Given the description of an element on the screen output the (x, y) to click on. 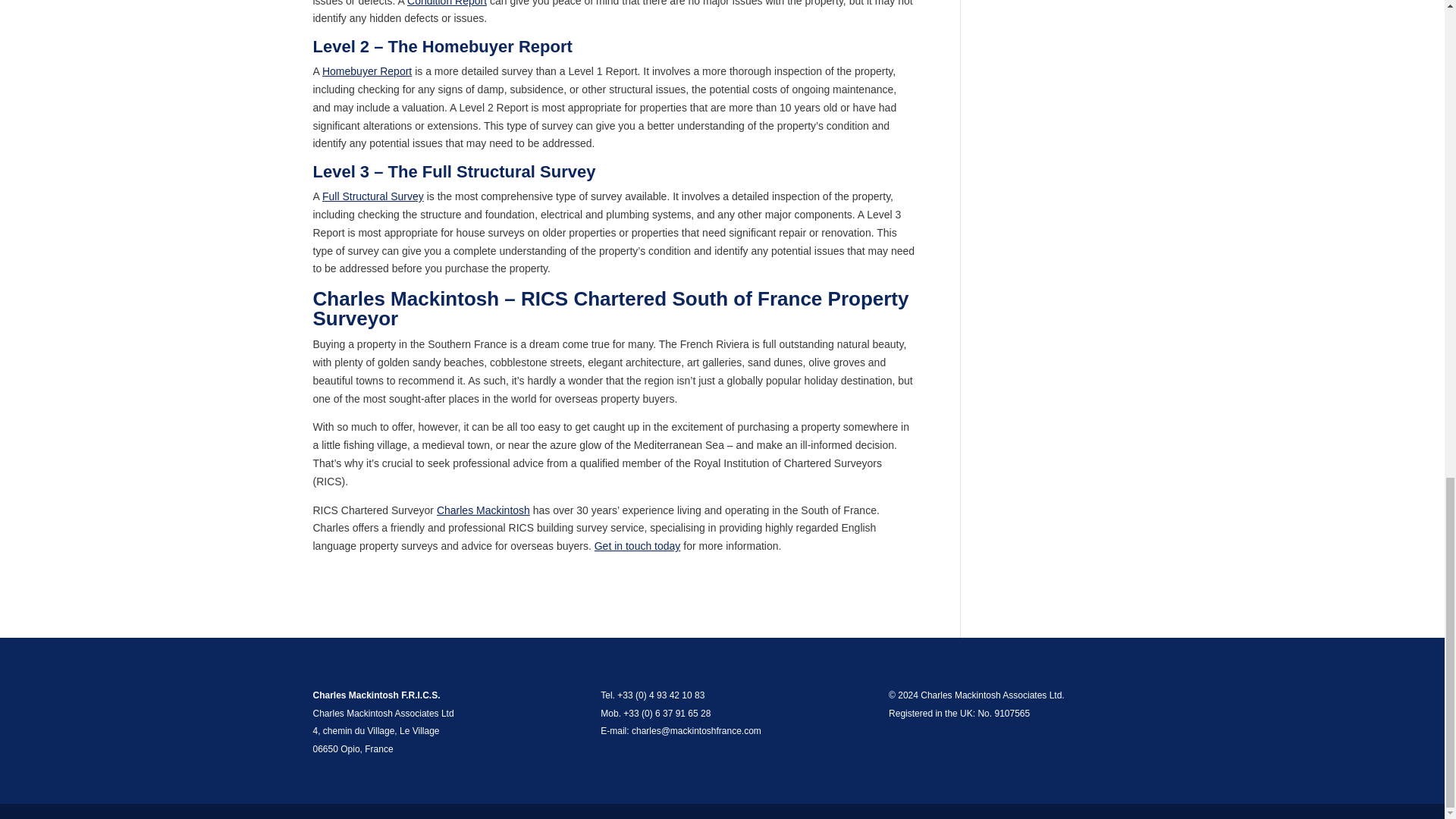
Full Structural Survey (372, 196)
Condition Report (446, 3)
Charles Mackintosh (482, 510)
Get in touch today (637, 545)
Homebuyer Report (366, 70)
